Given the description of an element on the screen output the (x, y) to click on. 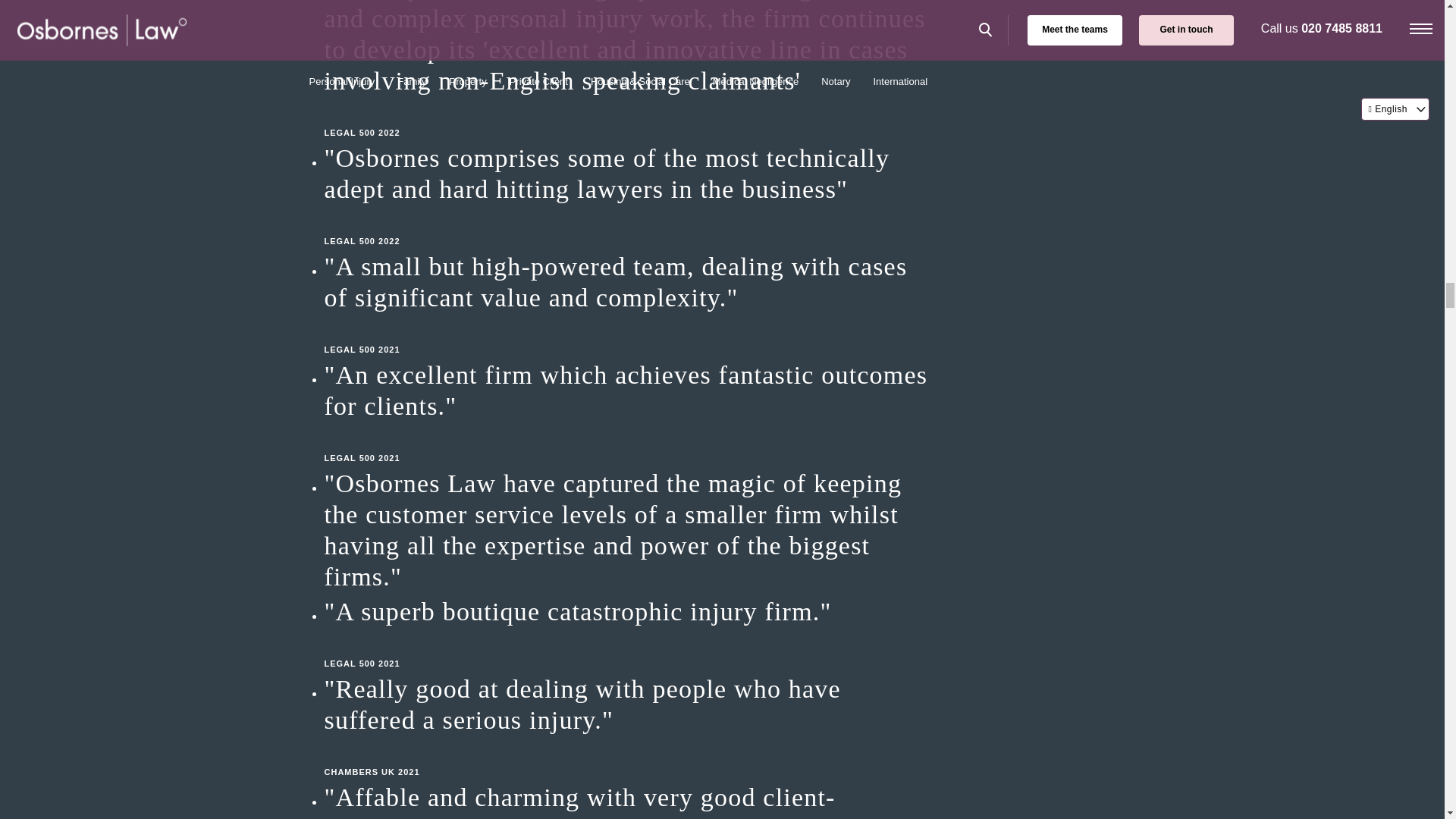
LEGAL 500 2021 (627, 442)
LEGAL 500 2022 (627, 117)
LEGAL 500 2022 (627, 225)
LEGAL 500 2021 (627, 648)
CHAMBERS UK 2021 (627, 756)
LEGAL 500 2021 (627, 333)
"A superb boutique catastrophic injury firm." (627, 611)
